Given the description of an element on the screen output the (x, y) to click on. 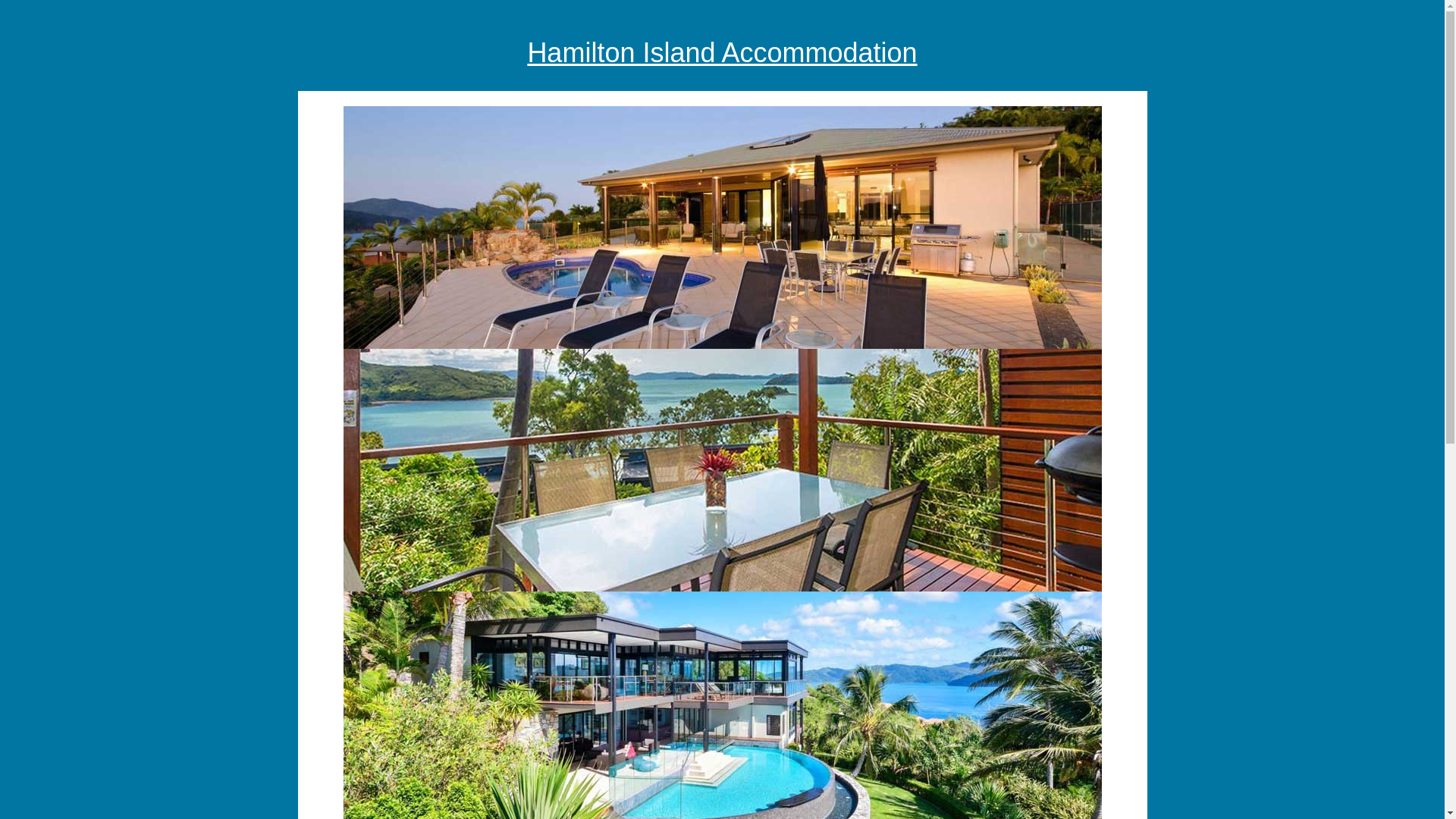
Hamilton Island Accommodation (722, 52)
